Given the description of an element on the screen output the (x, y) to click on. 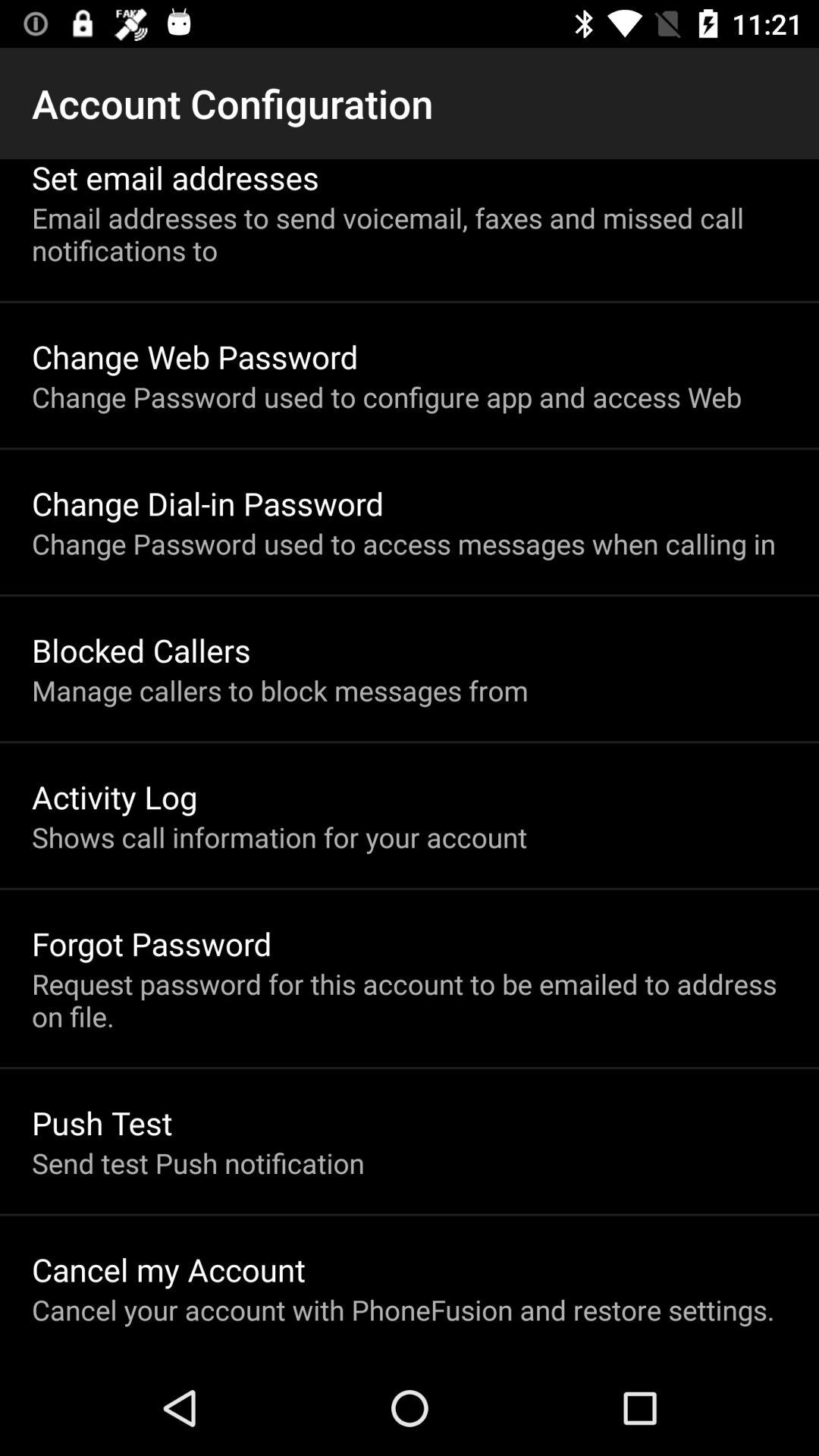
scroll until blocked callers (140, 649)
